Given the description of an element on the screen output the (x, y) to click on. 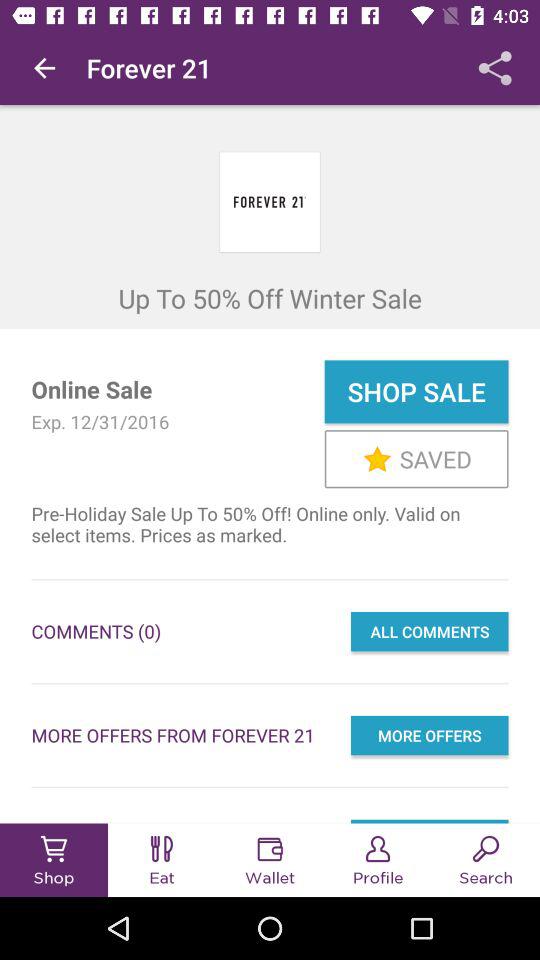
select the all comments item (429, 631)
